Given the description of an element on the screen output the (x, y) to click on. 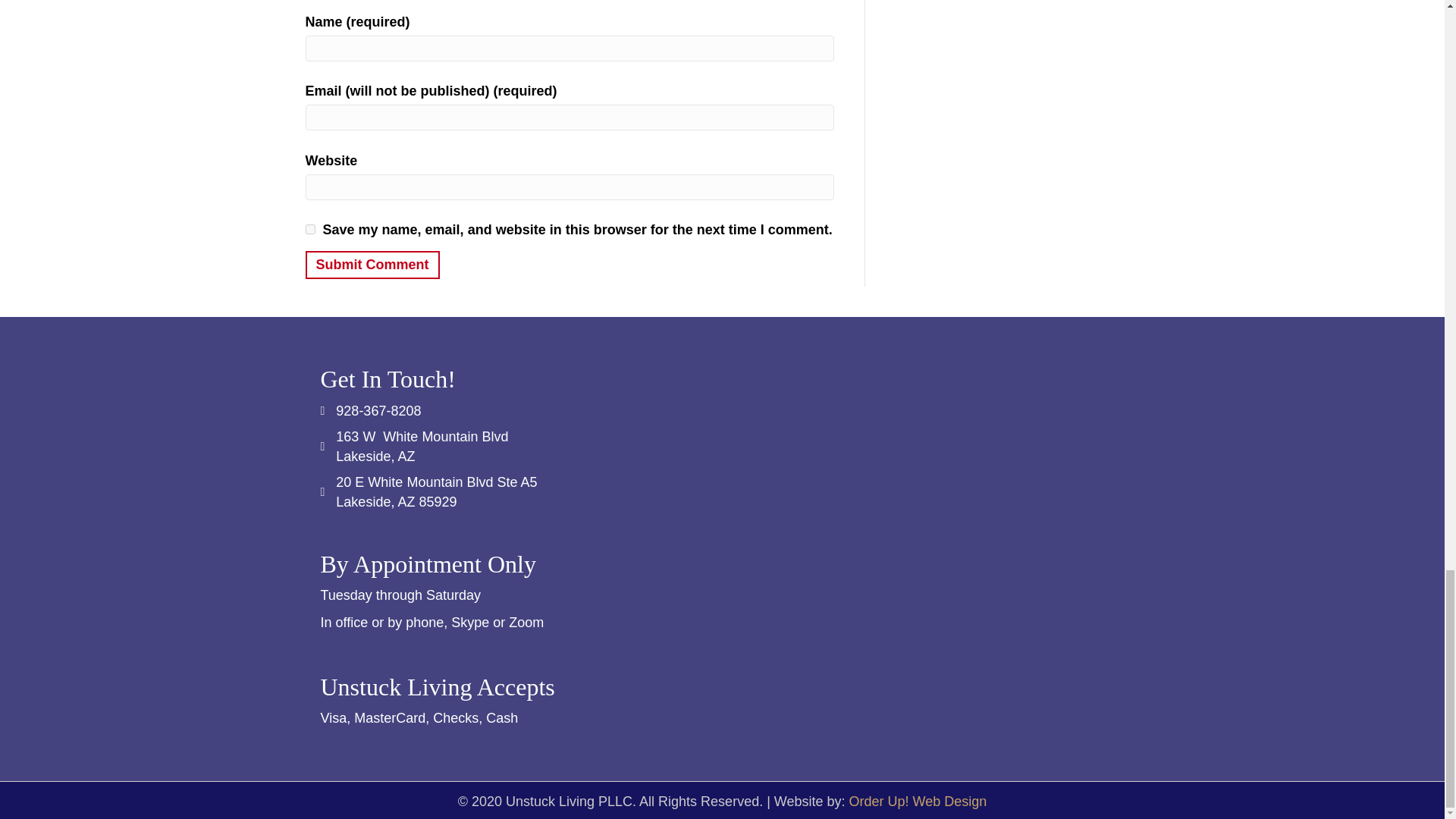
Order Up! Web Design (917, 801)
yes (309, 229)
Submit Comment (371, 265)
Submit Comment (371, 265)
